Given the description of an element on the screen output the (x, y) to click on. 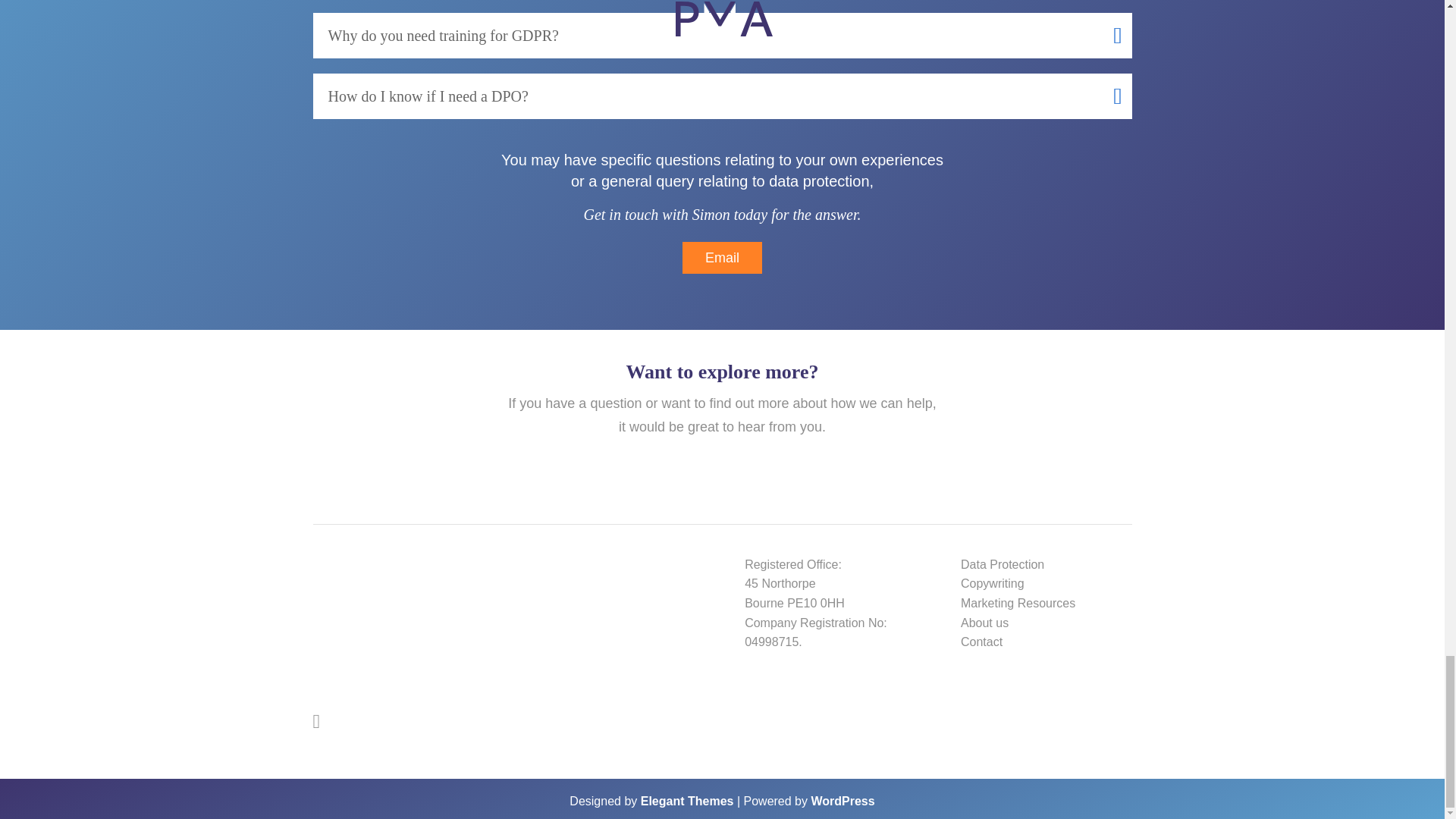
Premium WordPress Themes (686, 800)
School Suppliers (574, 595)
Copywriting (992, 583)
WordPress (842, 800)
Email (721, 257)
Marketing Resources (1017, 603)
About us (984, 622)
Data Protection (1001, 563)
Contact (981, 641)
Elegant Themes (686, 800)
